Given the description of an element on the screen output the (x, y) to click on. 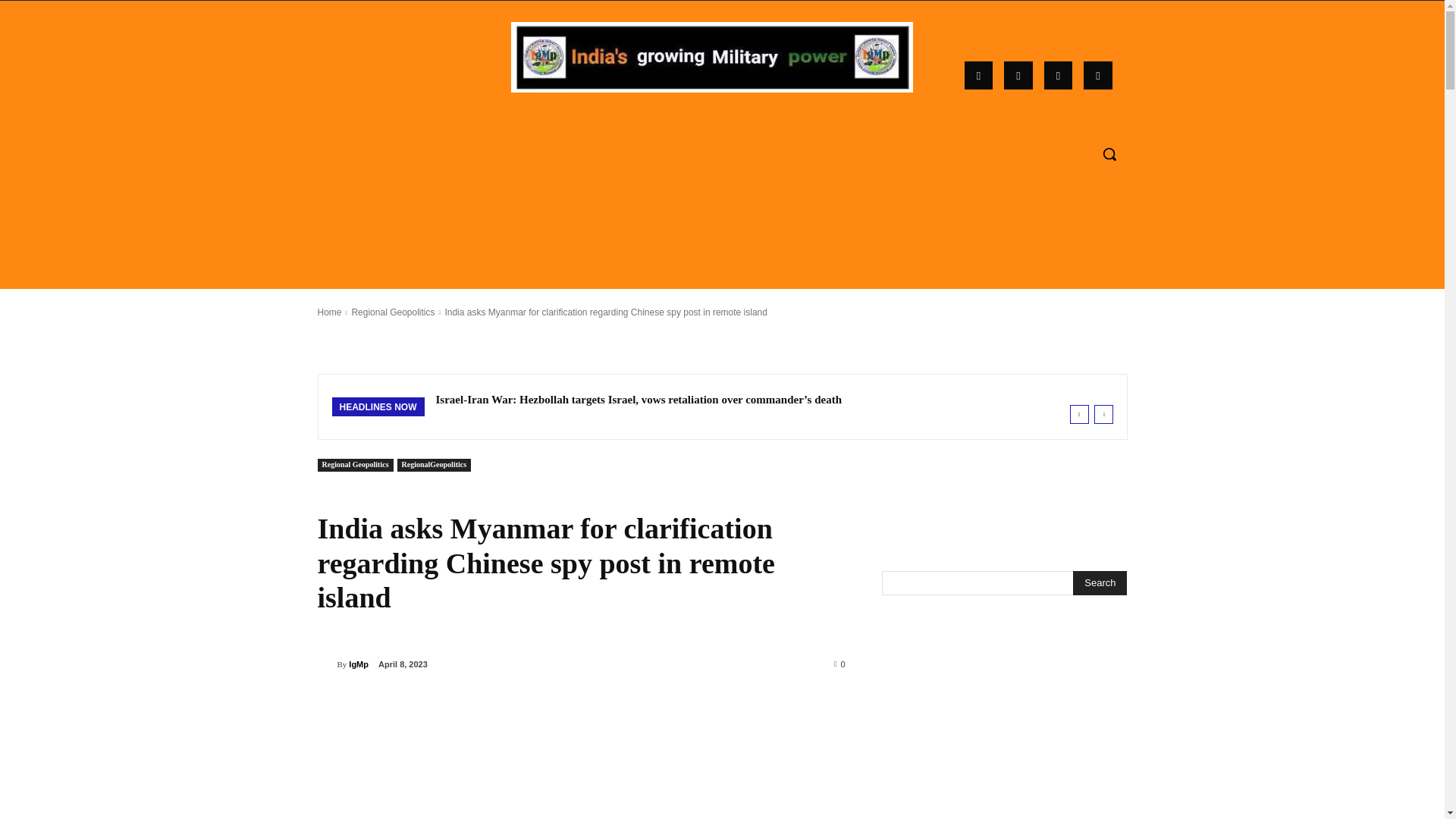
Instagram (1018, 75)
Twitter (1097, 75)
Facebook (977, 75)
Koo (1058, 75)
